Given the description of an element on the screen output the (x, y) to click on. 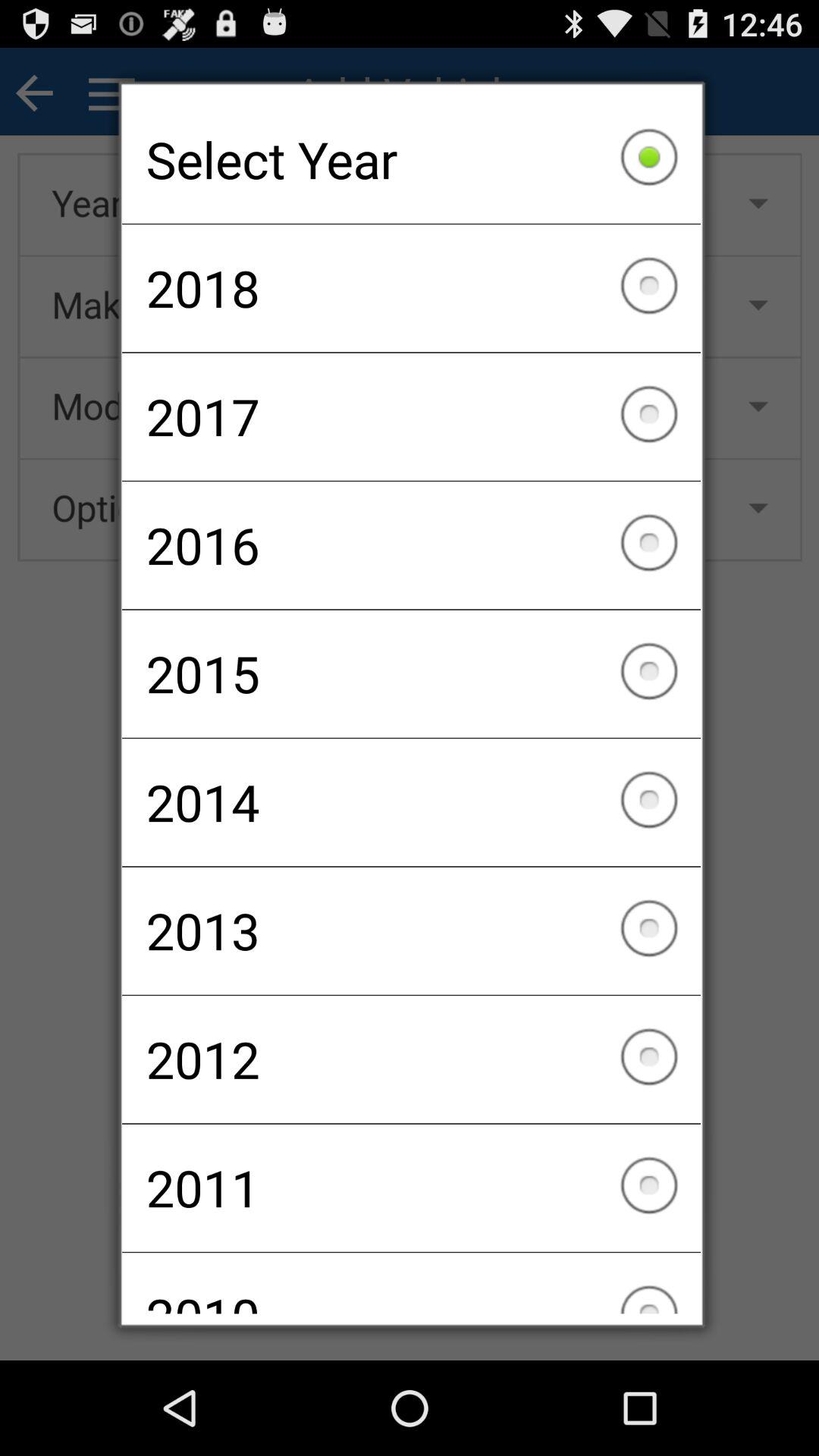
tap item above 2013 checkbox (411, 802)
